Given the description of an element on the screen output the (x, y) to click on. 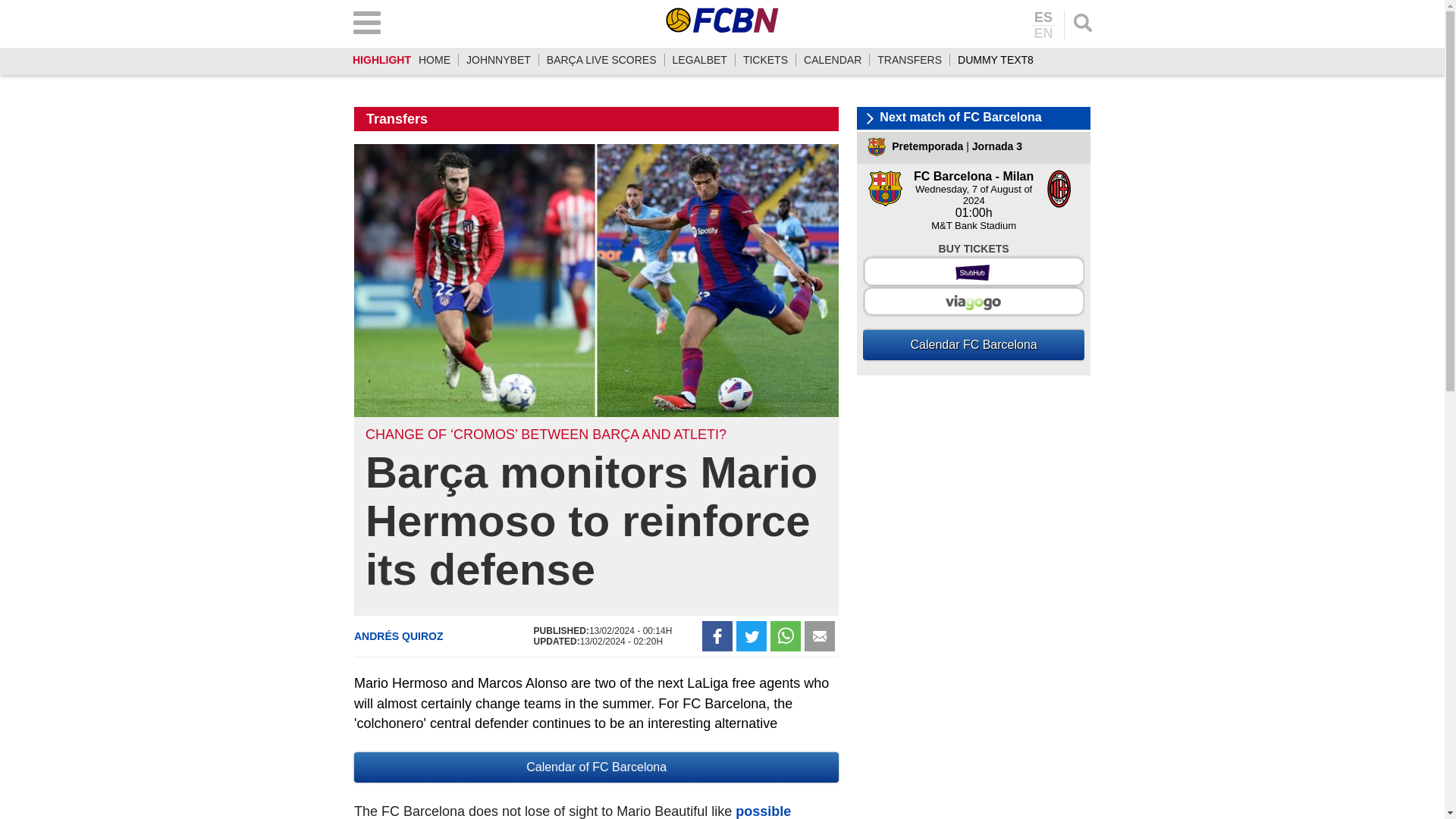
JOHNNEYBET (498, 60)
TICKETS (764, 60)
HOME (434, 60)
LEGALBET (699, 60)
Transfers (397, 118)
EN (1043, 32)
Castellano (1043, 17)
Transfers (909, 60)
LEGALBET (699, 60)
TRANSFERS (909, 60)
CALENDAR (832, 60)
ES (1043, 17)
CALENDAR (832, 60)
Home (434, 60)
English (1043, 32)
